Given the description of an element on the screen output the (x, y) to click on. 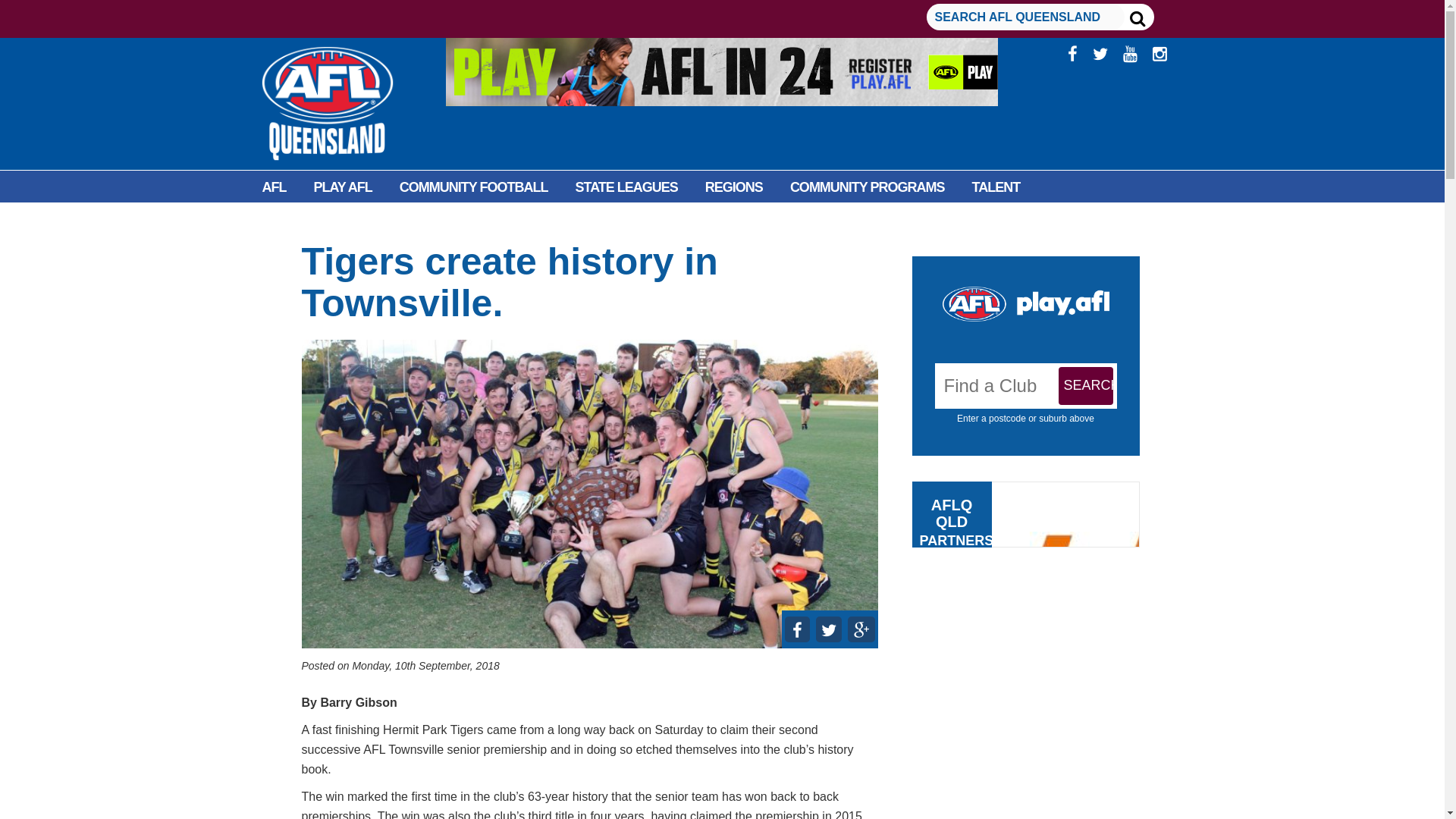
Search (1085, 385)
FACILITIES (295, 221)
AFL (273, 187)
COMMUNITY FOOTBALL (473, 187)
REGIONS (733, 187)
TALENT (995, 187)
COMMUNITY PROGRAMS (867, 187)
PLAY AFL (342, 187)
STATE LEAGUES (626, 187)
Search (1085, 385)
